Given the description of an element on the screen output the (x, y) to click on. 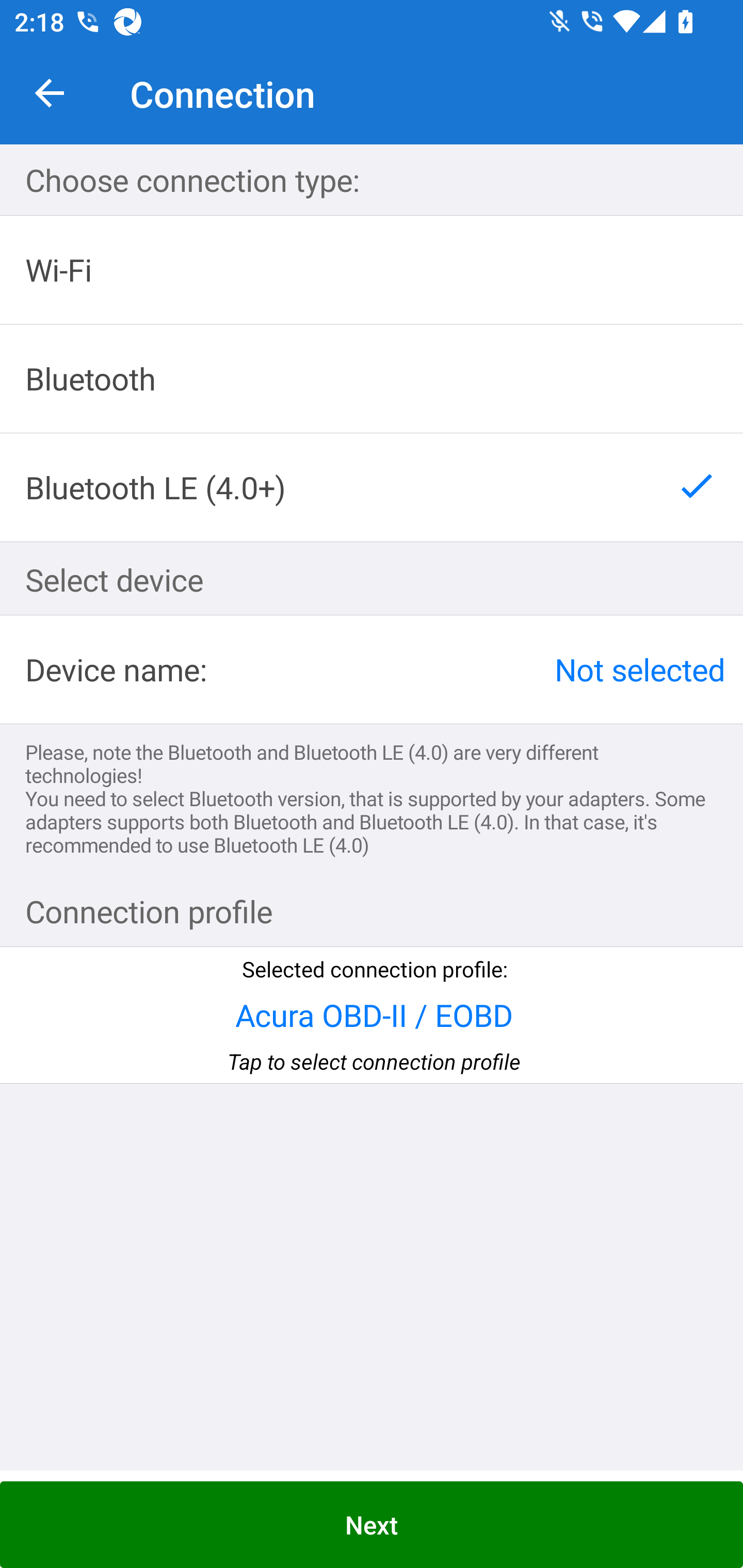
Wi-Fi (371, 270)
Bluetooth (371, 378)
Bluetooth LE (4.0+) (371, 486)
Device name: Not selected (371, 669)
Next (371, 1524)
